Given the description of an element on the screen output the (x, y) to click on. 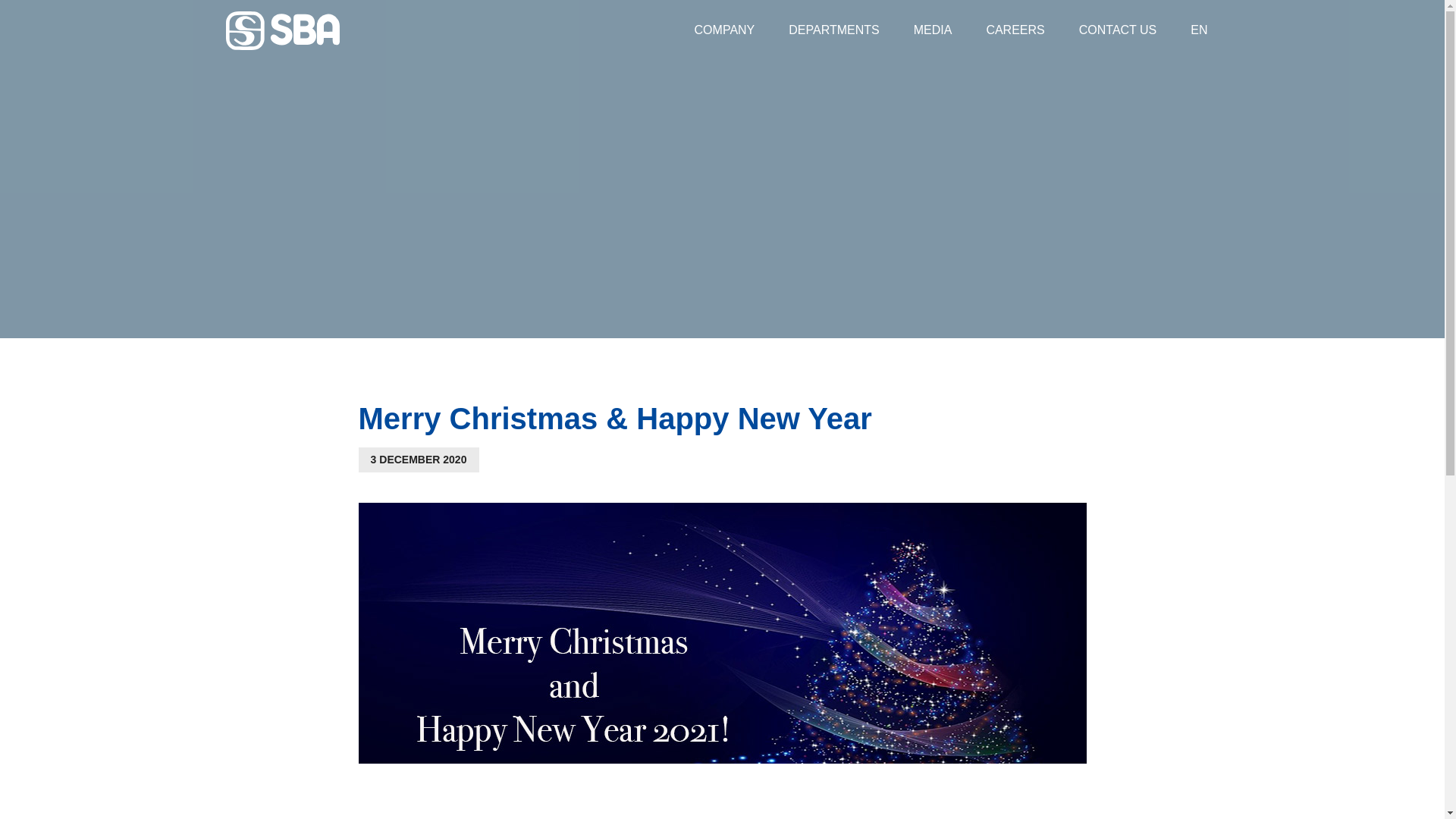
CAREERS (1014, 30)
MEDIA (932, 30)
COMPANY (724, 30)
DEPARTMENTS (833, 30)
CONTACT US (1118, 30)
To the front page (282, 30)
